Given the description of an element on the screen output the (x, y) to click on. 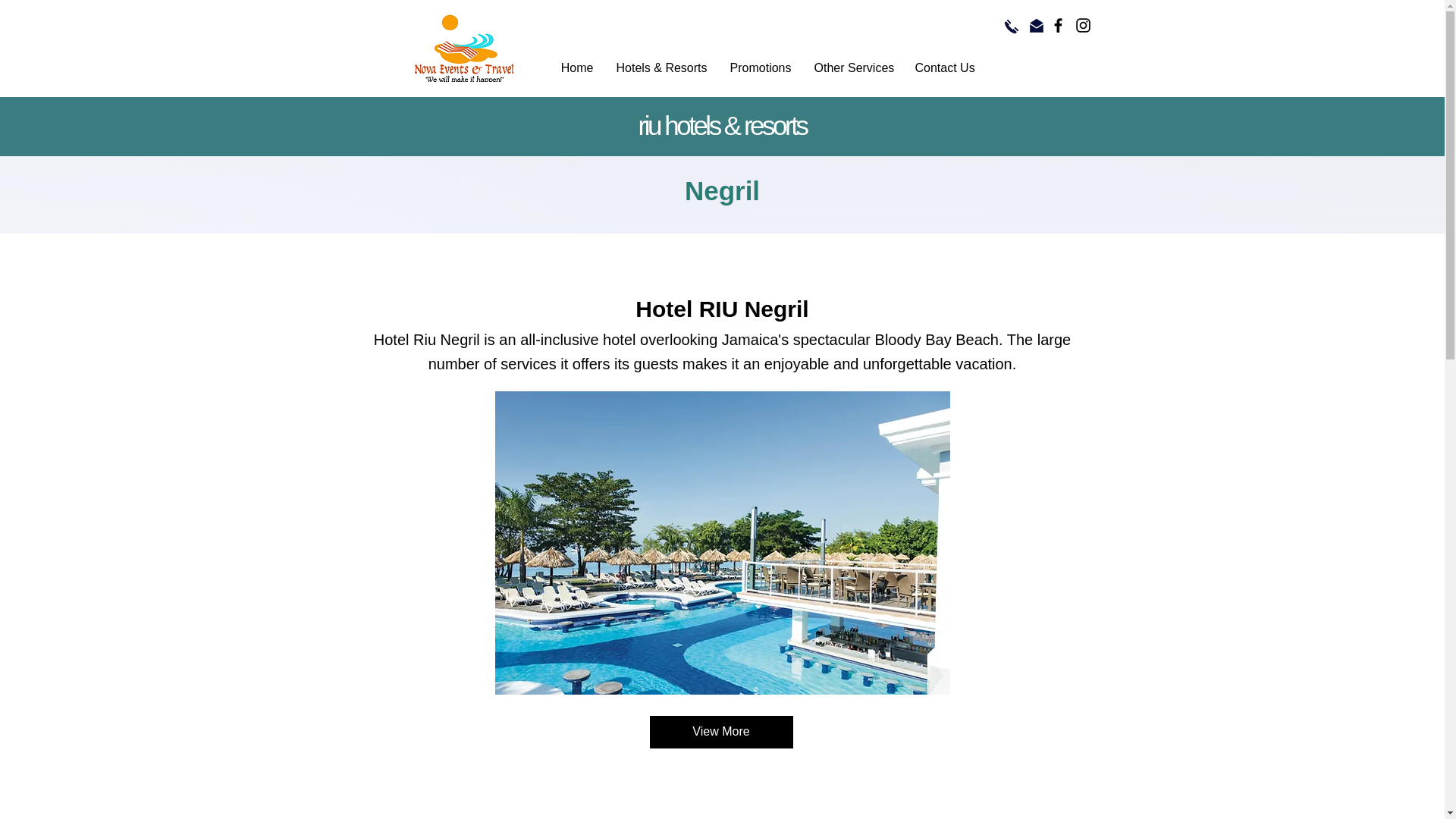
Promotions (760, 67)
Other Services (852, 67)
View More (720, 731)
Home (575, 67)
Contact Us (944, 67)
